Given the description of an element on the screen output the (x, y) to click on. 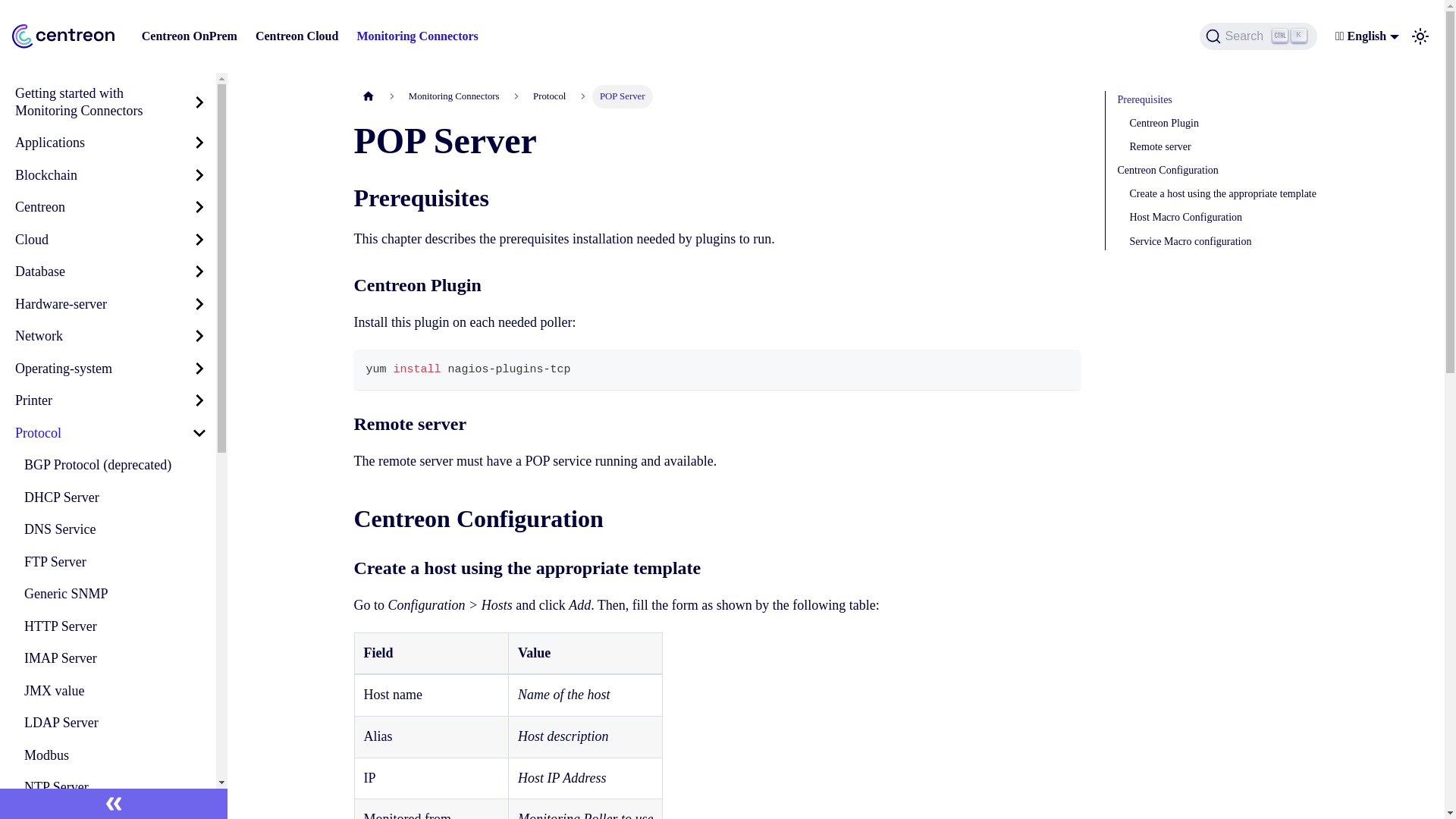
HTTP Server (114, 625)
OSPF Protocol (114, 812)
Generic SNMP (114, 594)
Getting started with Monitoring Connectors (1258, 35)
Database (94, 101)
DHCP Server (110, 271)
Applications (114, 496)
Centreon Cloud (110, 142)
FTP Server (296, 36)
